Given the description of an element on the screen output the (x, y) to click on. 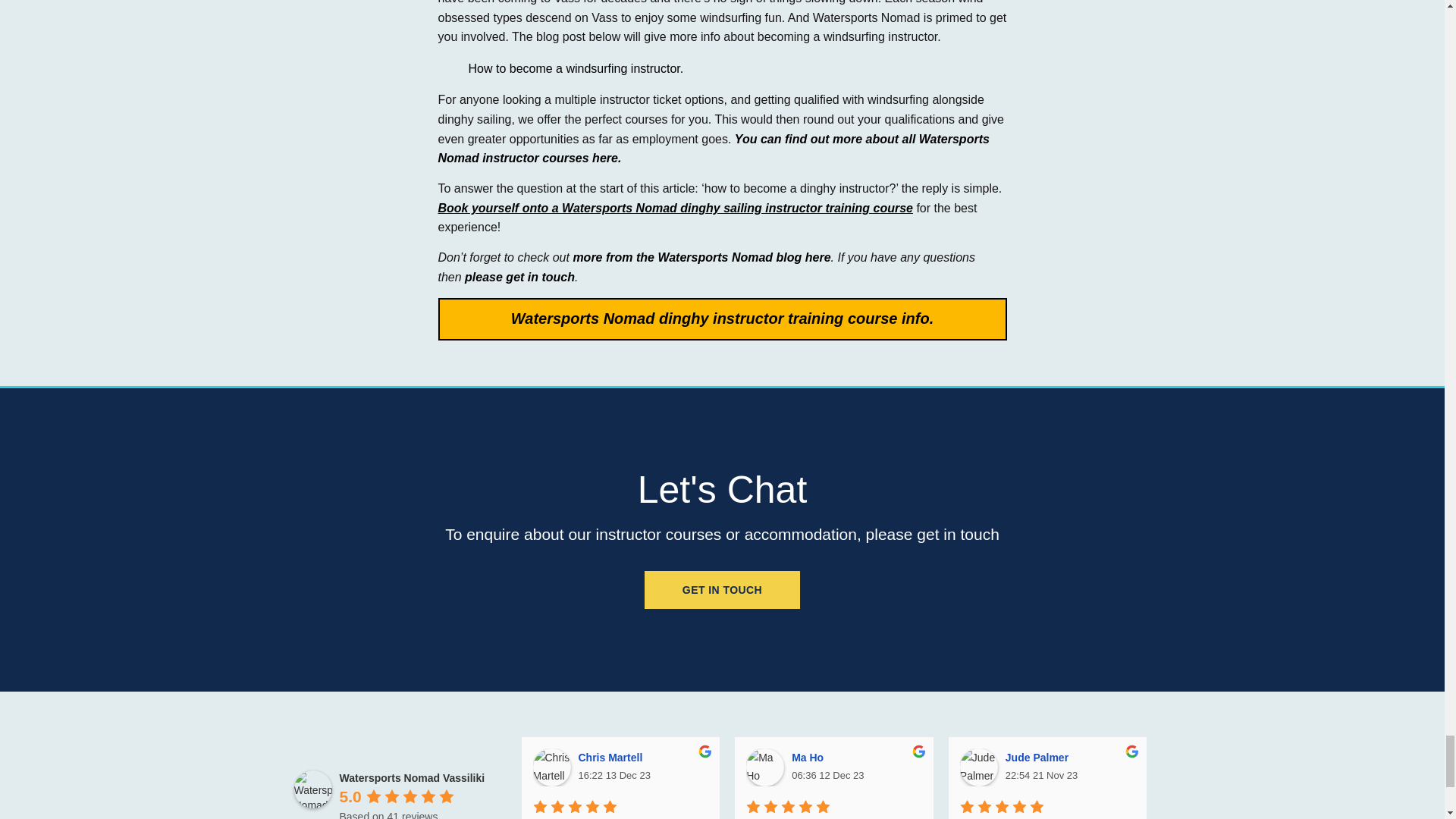
Chris Martell (551, 767)
Watersports Nomad Vassiliki (312, 789)
